Given the description of an element on the screen output the (x, y) to click on. 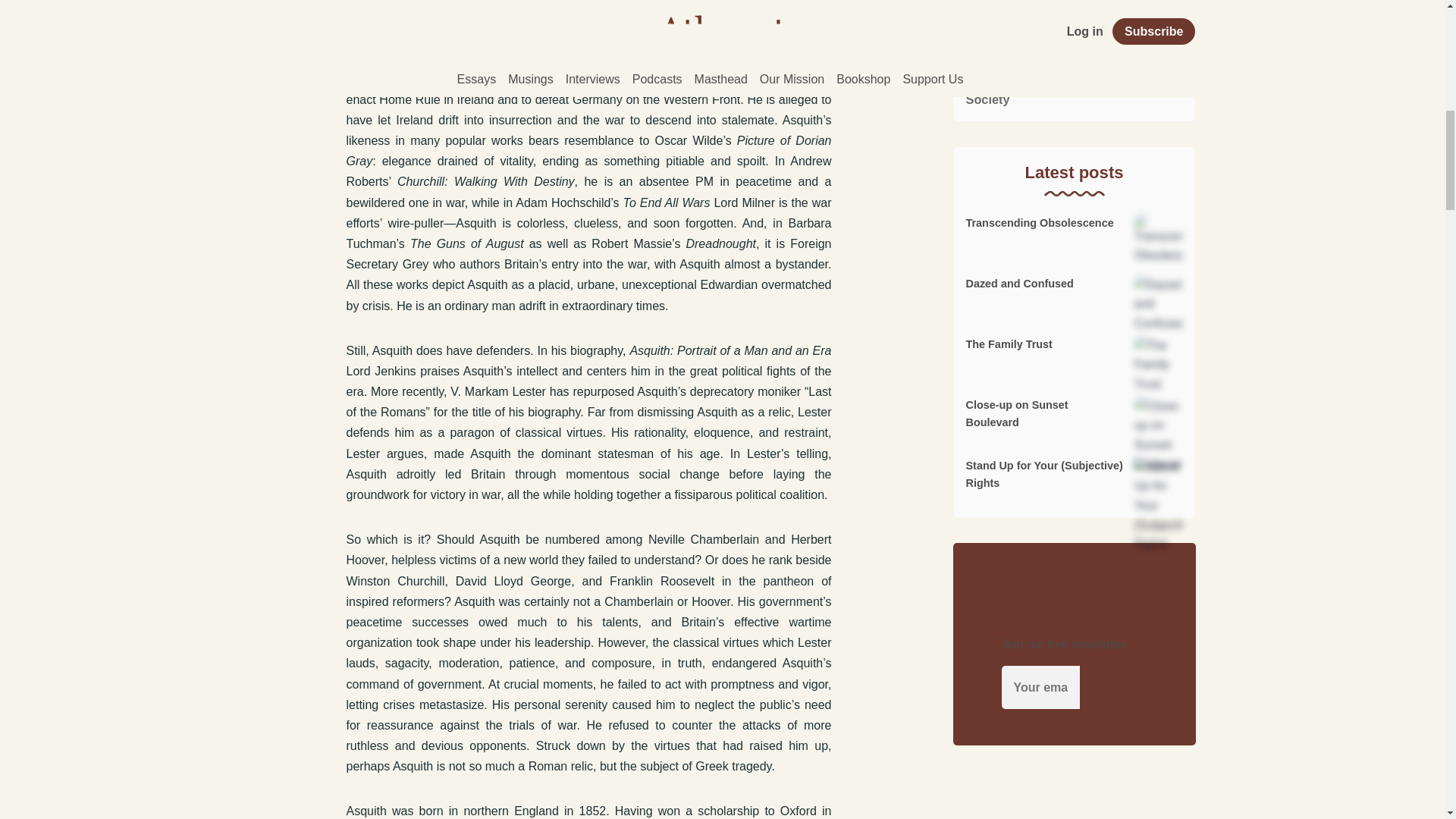
Politics (1074, 34)
Culture (1074, 9)
Technology (1074, 66)
Society (1074, 95)
